Given the description of an element on the screen output the (x, y) to click on. 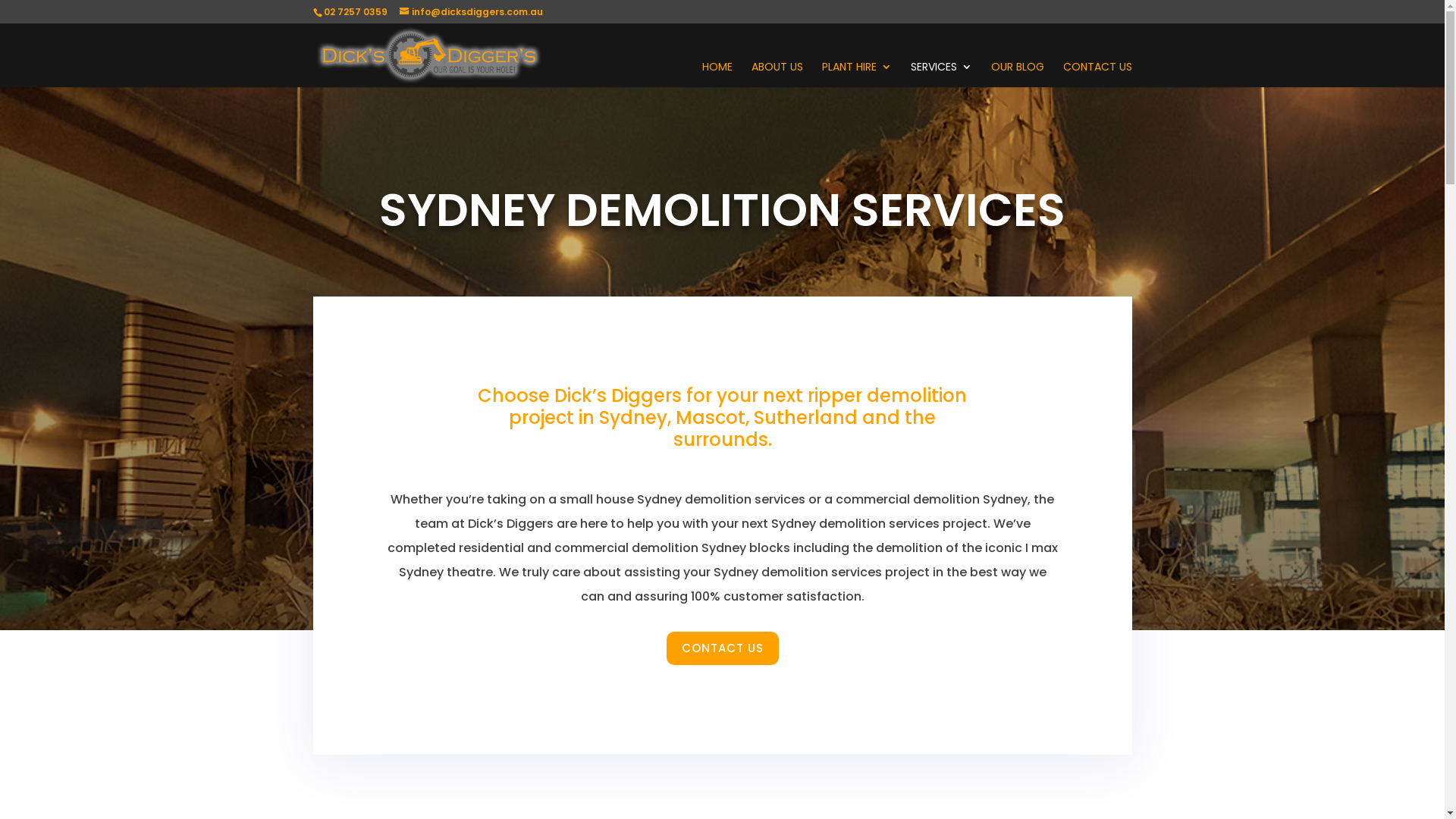
ABOUT US Element type: text (776, 74)
CONTACT US Element type: text (721, 648)
PLANT HIRE Element type: text (856, 74)
CONTACT US Element type: text (1097, 74)
SERVICES Element type: text (940, 74)
OUR BLOG Element type: text (1016, 74)
info@dicksdiggers.com.au Element type: text (470, 11)
HOME Element type: text (717, 74)
